Given the description of an element on the screen output the (x, y) to click on. 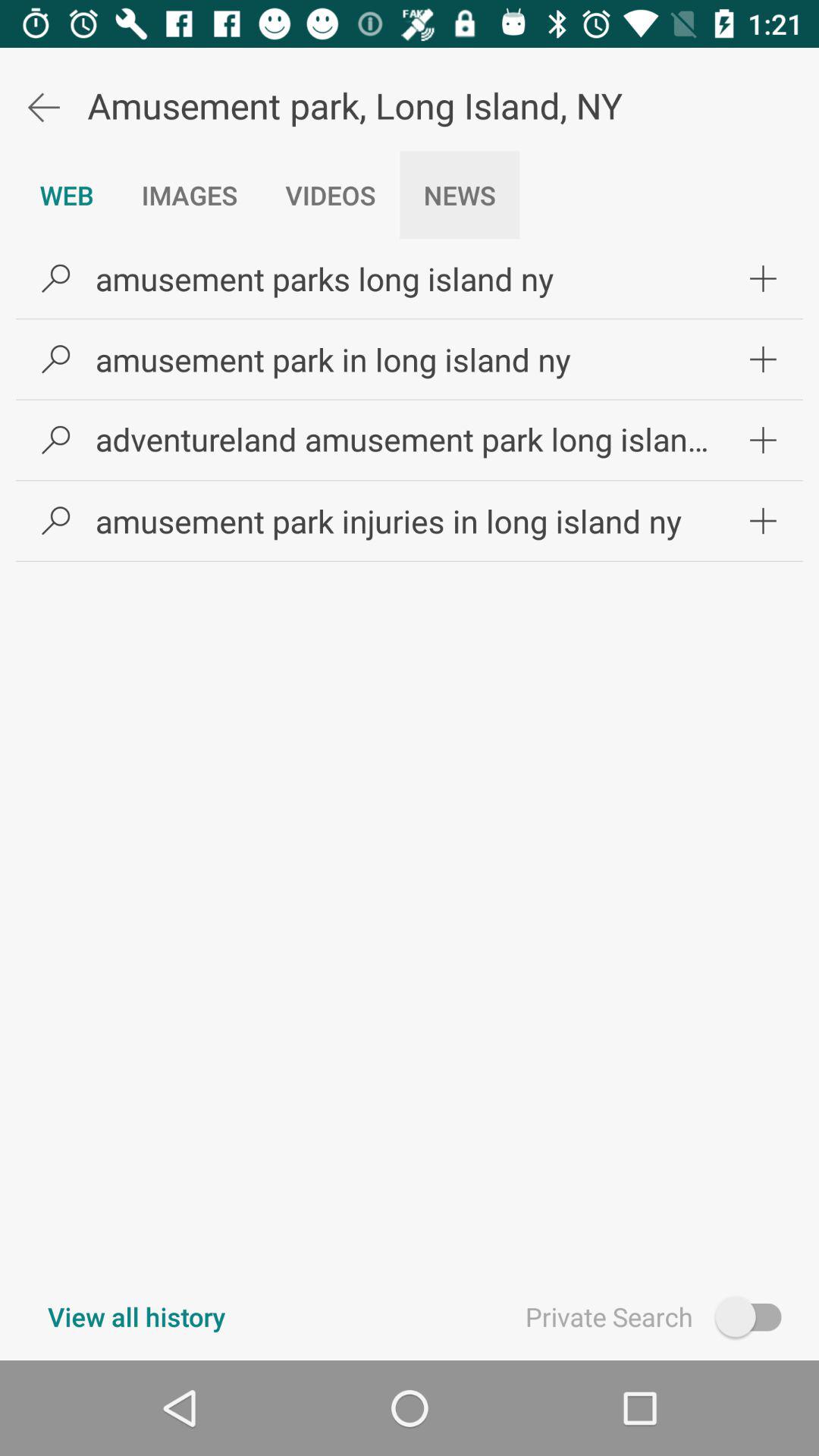
choose web icon (66, 194)
